Given the description of an element on the screen output the (x, y) to click on. 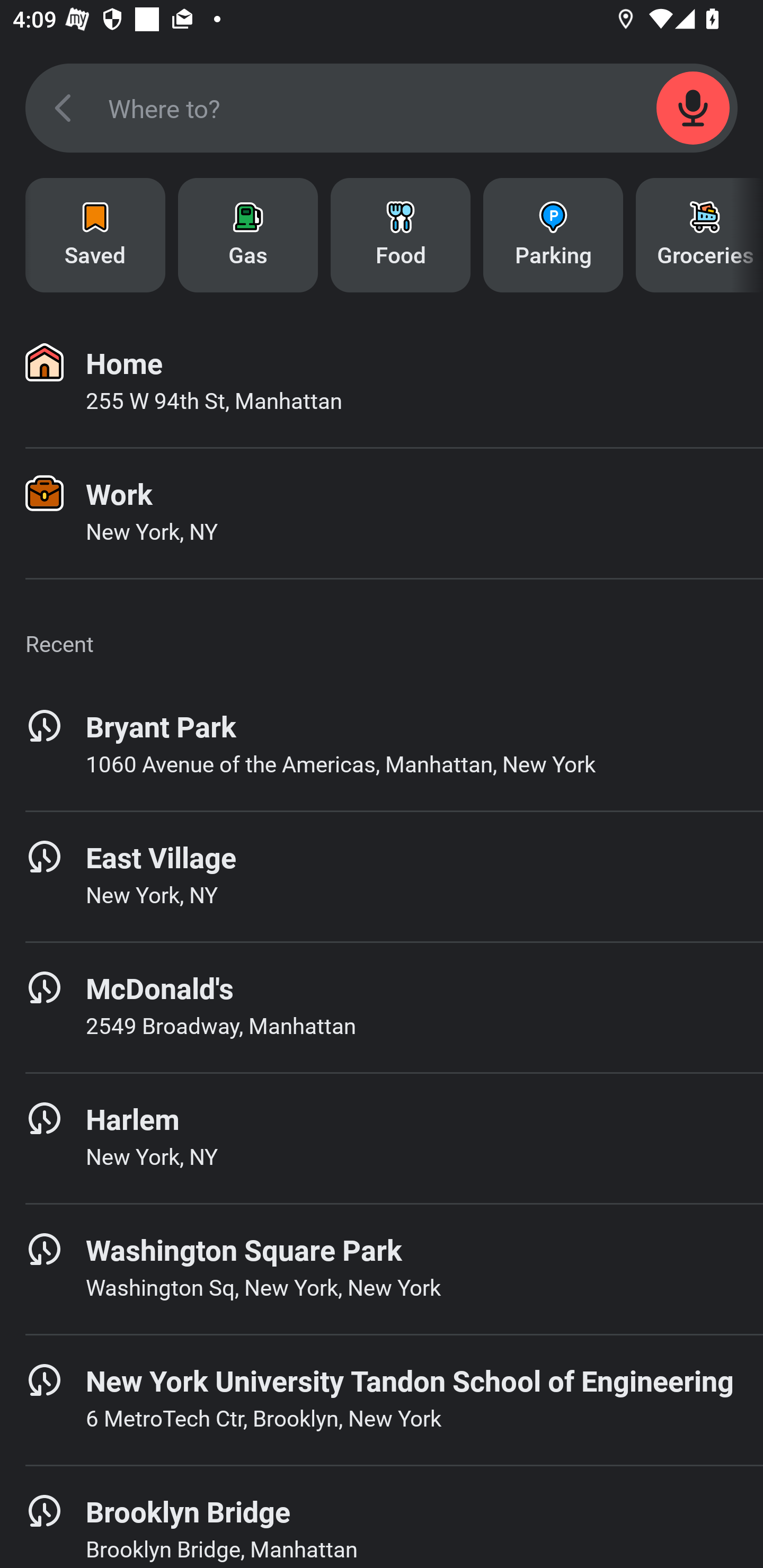
SEARCH_SCREEN_SEARCH_FIELD Where to? (381, 108)
Saved (95, 234)
Gas (247, 234)
Food (400, 234)
Parking (552, 234)
Groceries (699, 234)
Home 255 W 94th St, Manhattan (381, 382)
Work New York, NY (381, 513)
East Village New York, NY (381, 876)
McDonald's 2549 Broadway, Manhattan (381, 1007)
Harlem New York, NY (381, 1138)
Brooklyn Bridge Brooklyn Bridge, Manhattan (381, 1517)
